Given the description of an element on the screen output the (x, y) to click on. 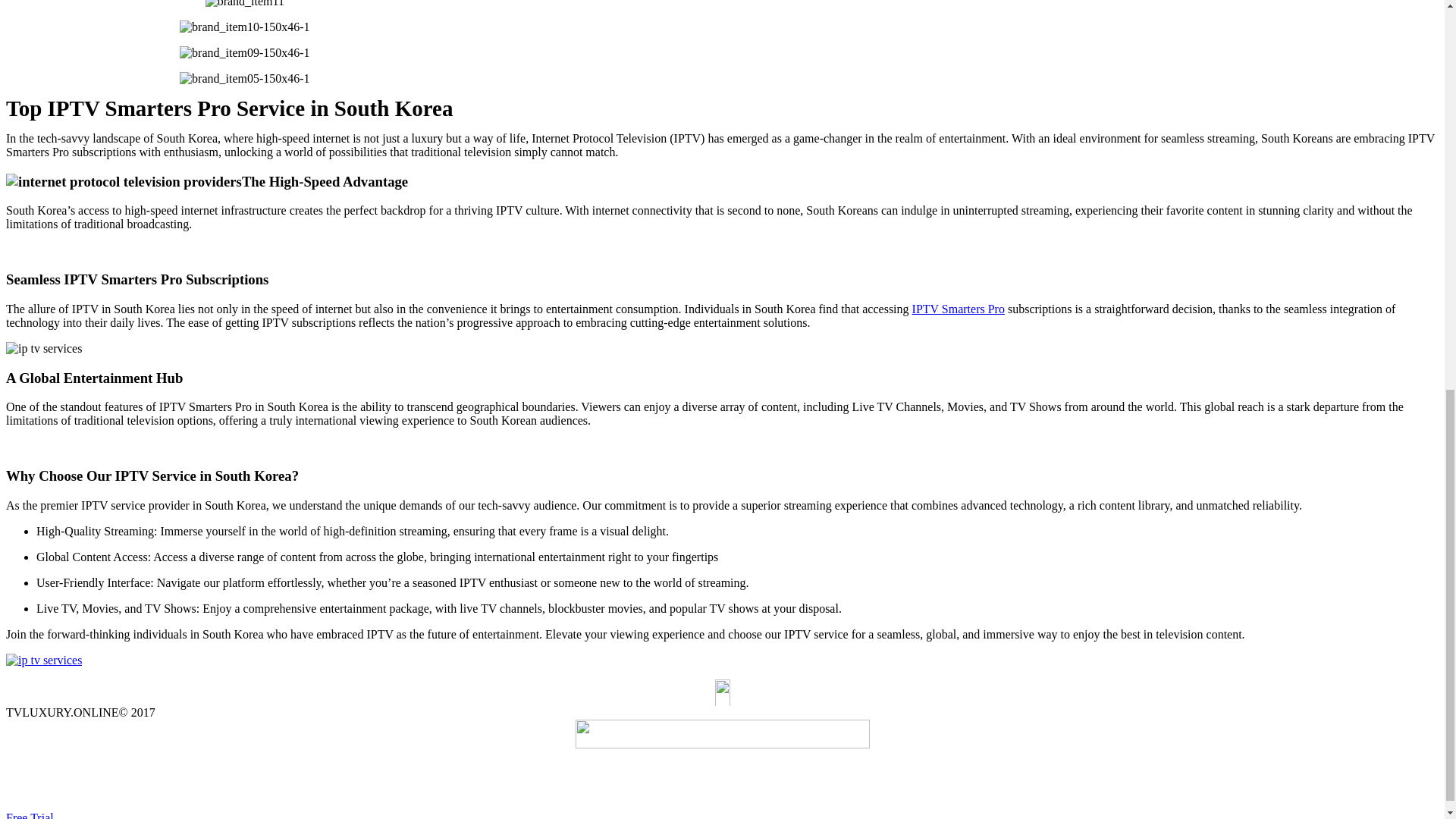
IPTV Smarters Pro (958, 308)
